Given the description of an element on the screen output the (x, y) to click on. 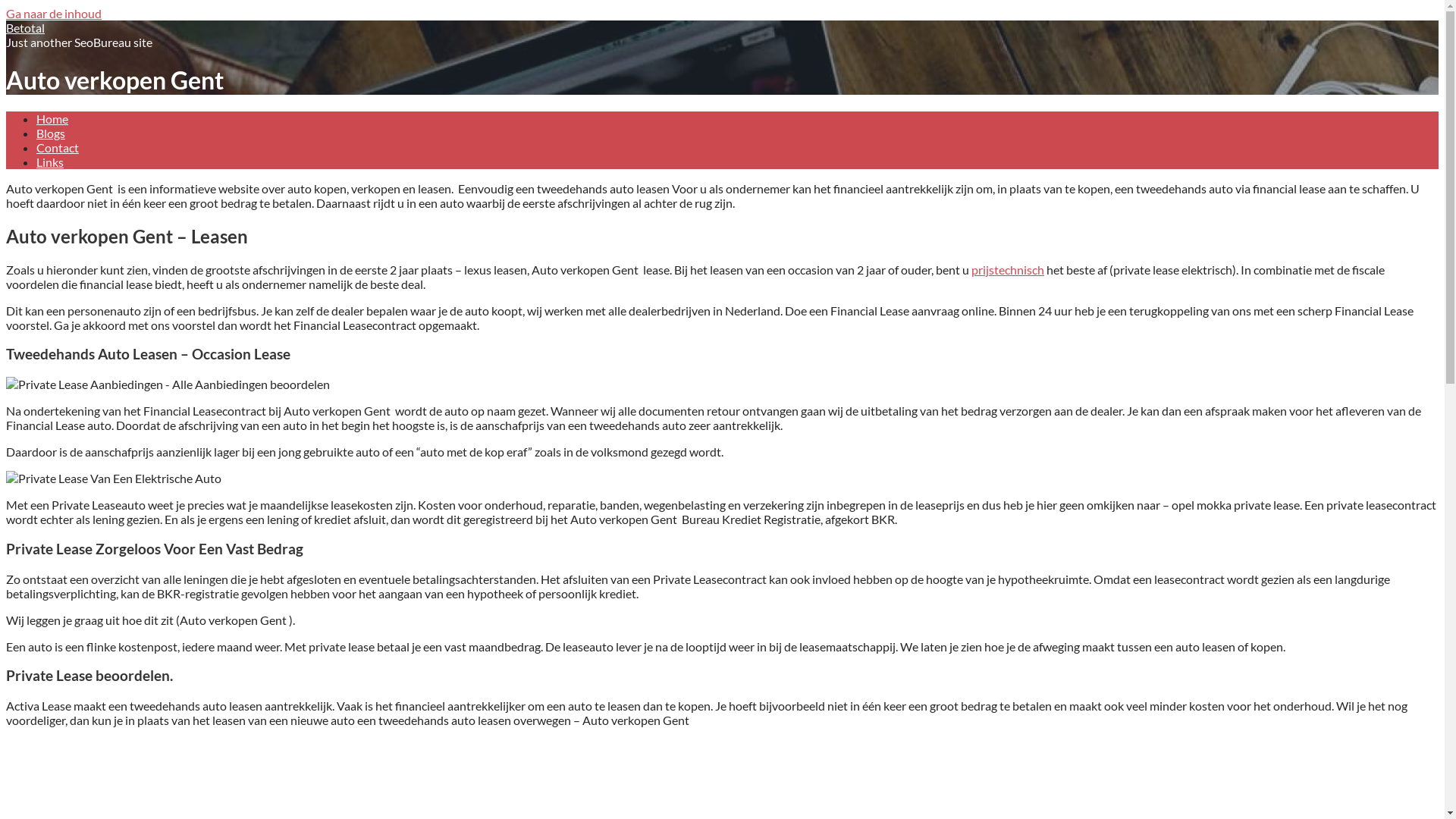
Home Element type: text (52, 118)
Betotal Element type: text (25, 27)
Blogs Element type: text (50, 132)
Links Element type: text (49, 161)
Ga naar de inhoud Element type: text (53, 13)
Contact Element type: text (57, 147)
prijstechnisch Element type: text (1007, 269)
